Given the description of an element on the screen output the (x, y) to click on. 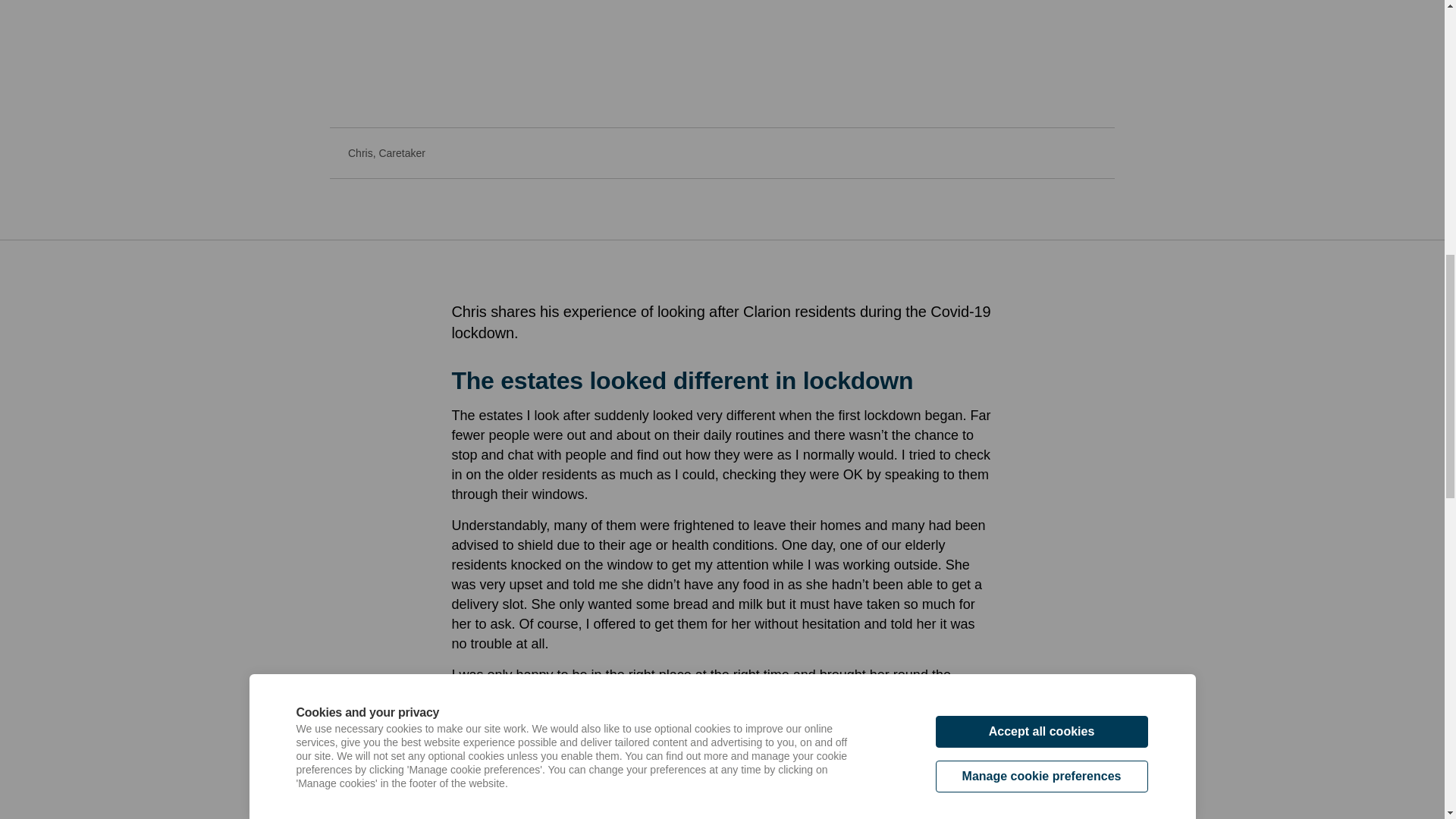
Manage cookie preferences (1042, 82)
Accept all cookies (1042, 53)
